Given the description of an element on the screen output the (x, y) to click on. 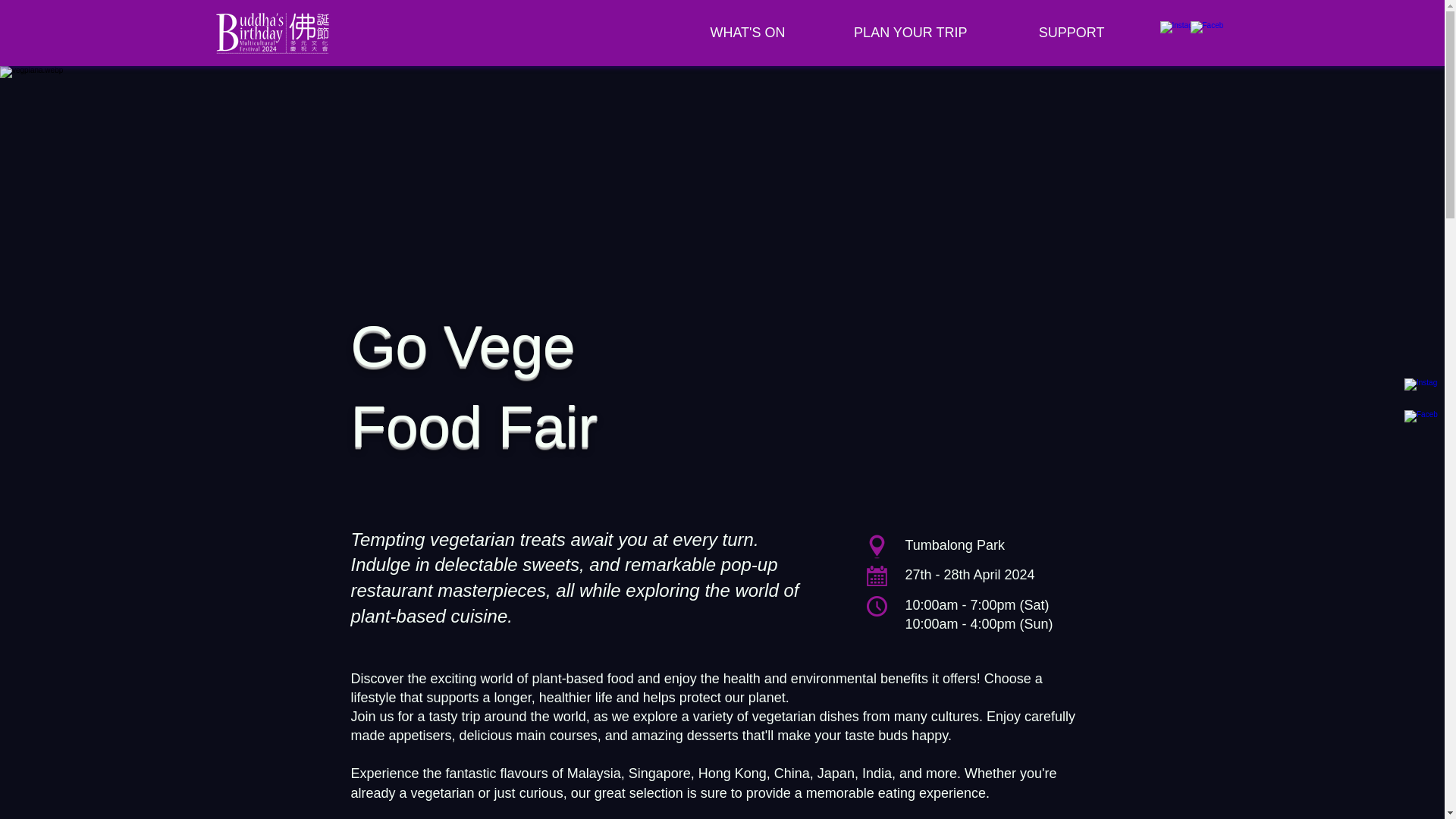
SUPPORT (1046, 32)
PLAN YOUR TRIP (887, 32)
WHAT'S ON (722, 32)
